Given the description of an element on the screen output the (x, y) to click on. 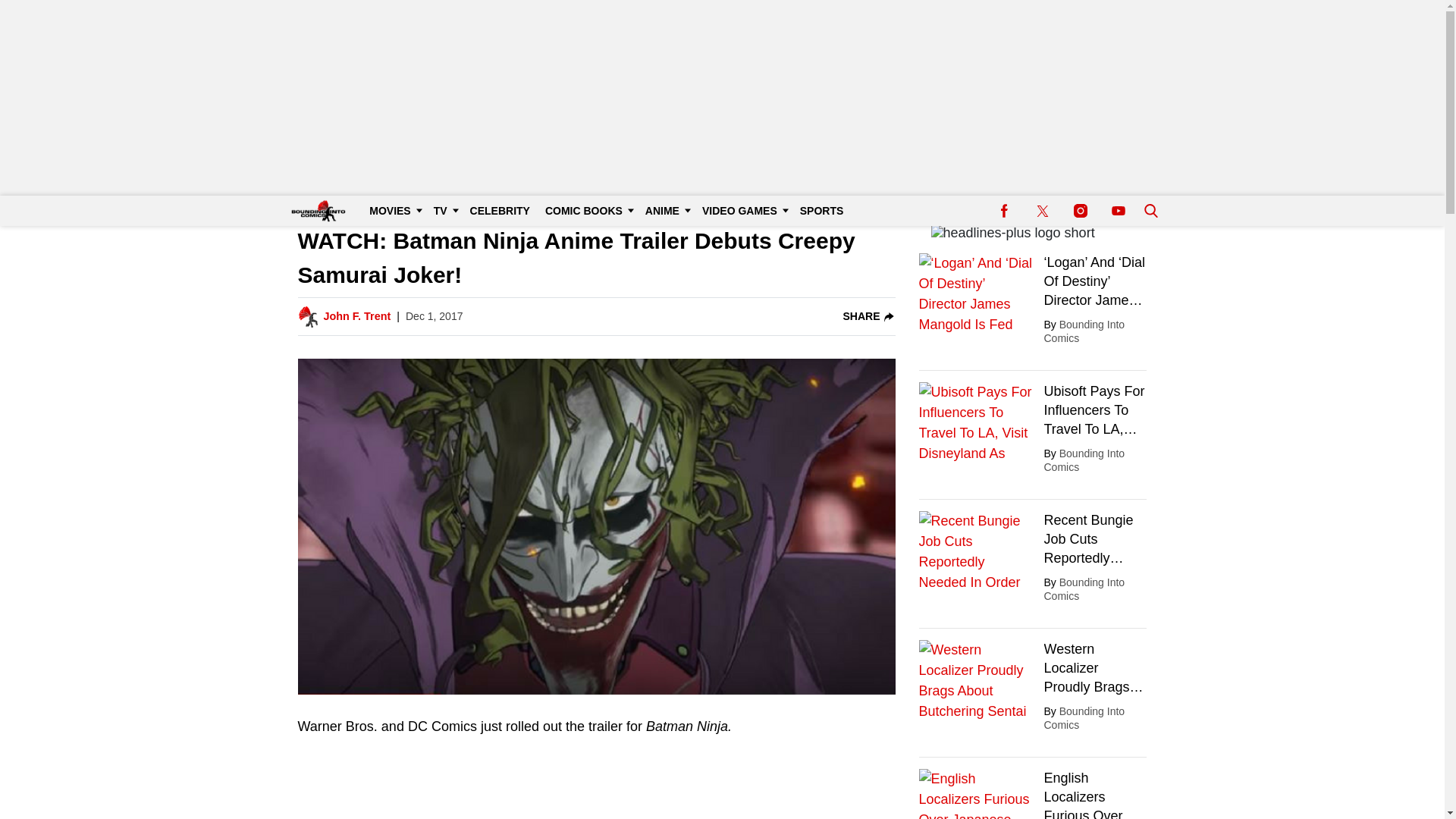
TV (444, 210)
Follow us on Twitter (1042, 210)
Posts by John F. Trent (356, 316)
Follow us on Instagram (1080, 210)
SPORTS (821, 210)
John F. Trent (356, 316)
MOVIES (393, 210)
Subscribe to our YouTube channel (1118, 210)
CELEBRITY (500, 210)
COMIC BOOKS (587, 210)
